Given the description of an element on the screen output the (x, y) to click on. 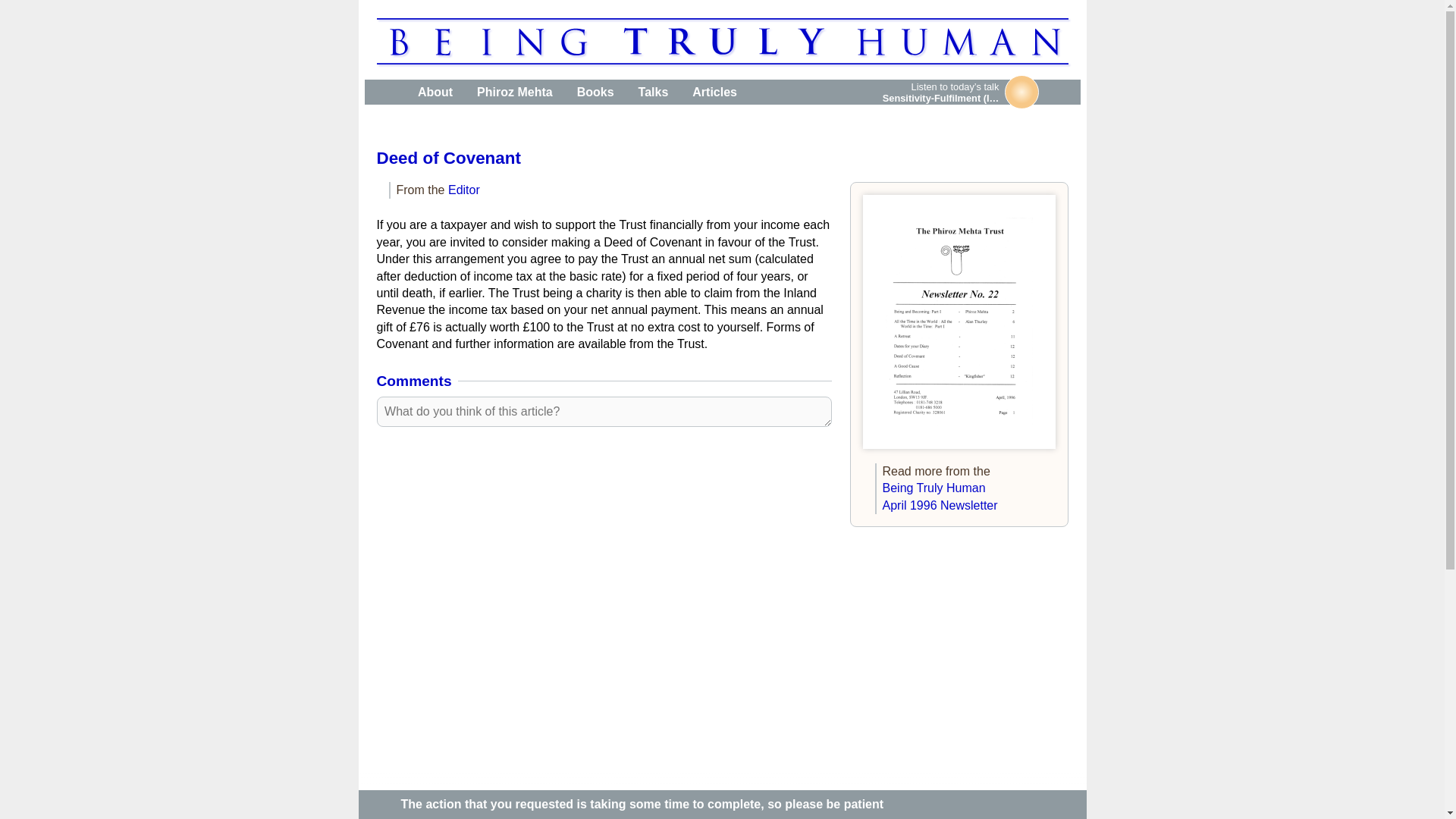
Books (595, 91)
Search for talks and articles (769, 91)
Talks (653, 91)
About (435, 91)
Phiroz Mehta (514, 91)
Return to our homepage (384, 91)
Articles (714, 91)
Deed of Covenant (447, 157)
